Given the description of an element on the screen output the (x, y) to click on. 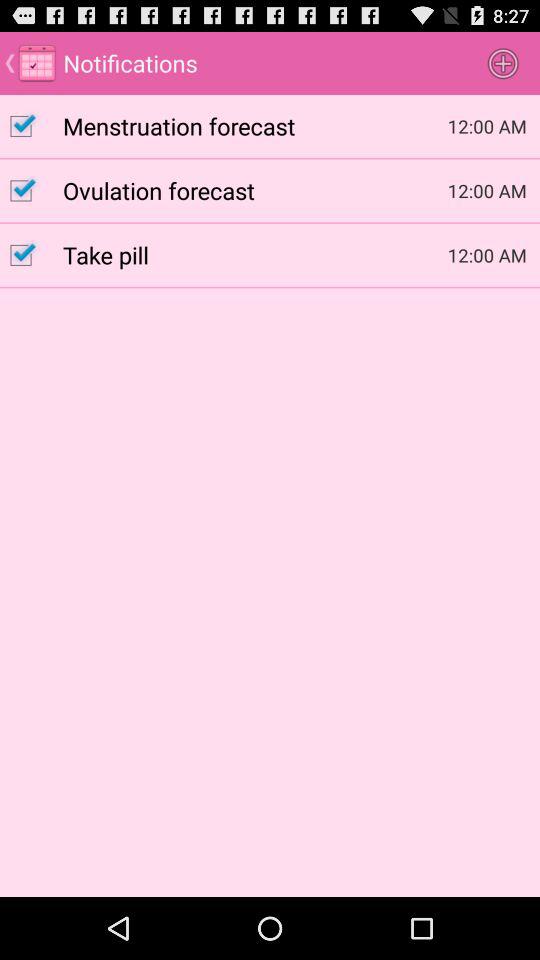
scroll to menstruation forecast icon (255, 125)
